Given the description of an element on the screen output the (x, y) to click on. 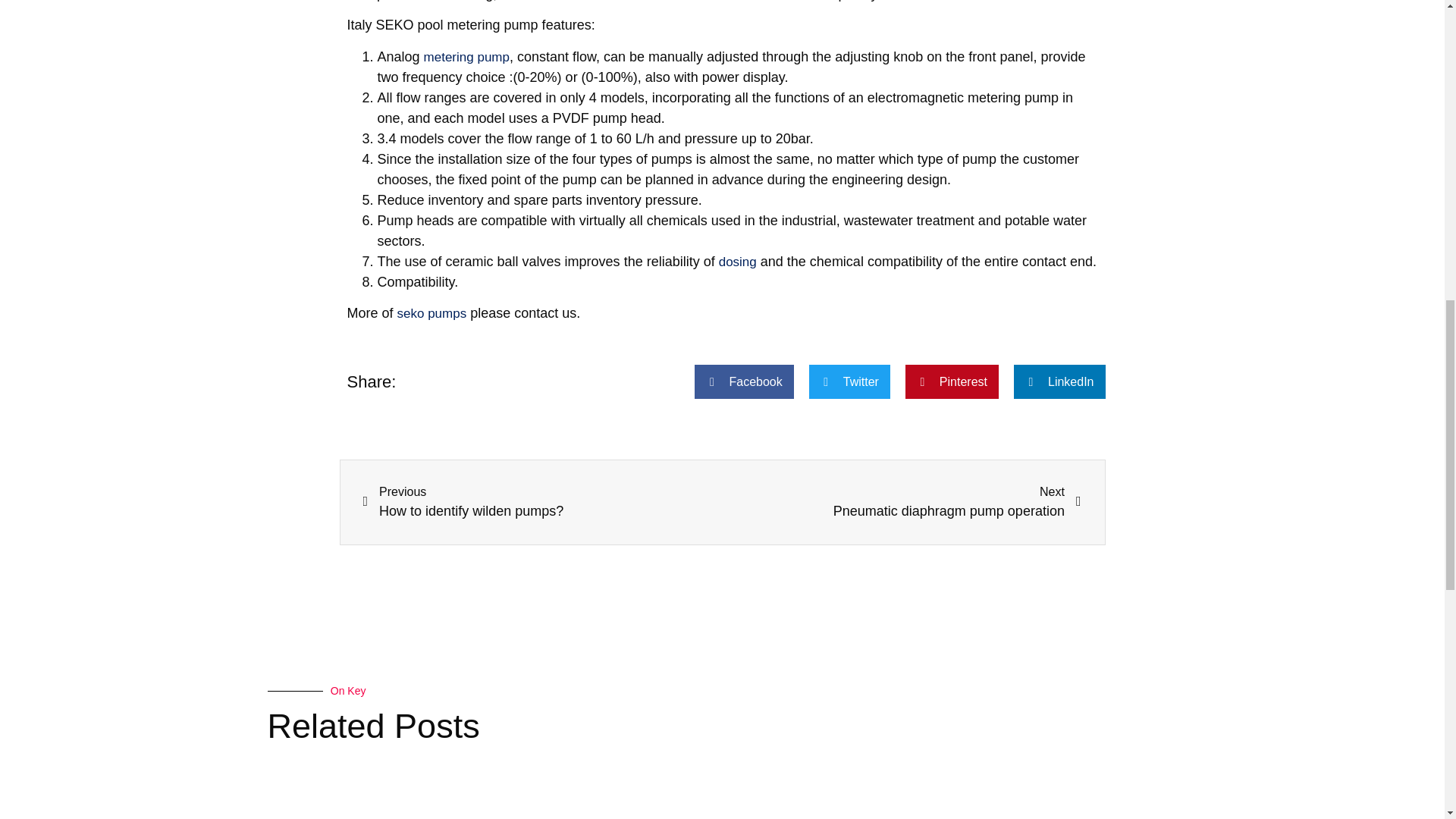
dosing (738, 261)
seko pumps (542, 502)
metering pump (432, 313)
